Given the description of an element on the screen output the (x, y) to click on. 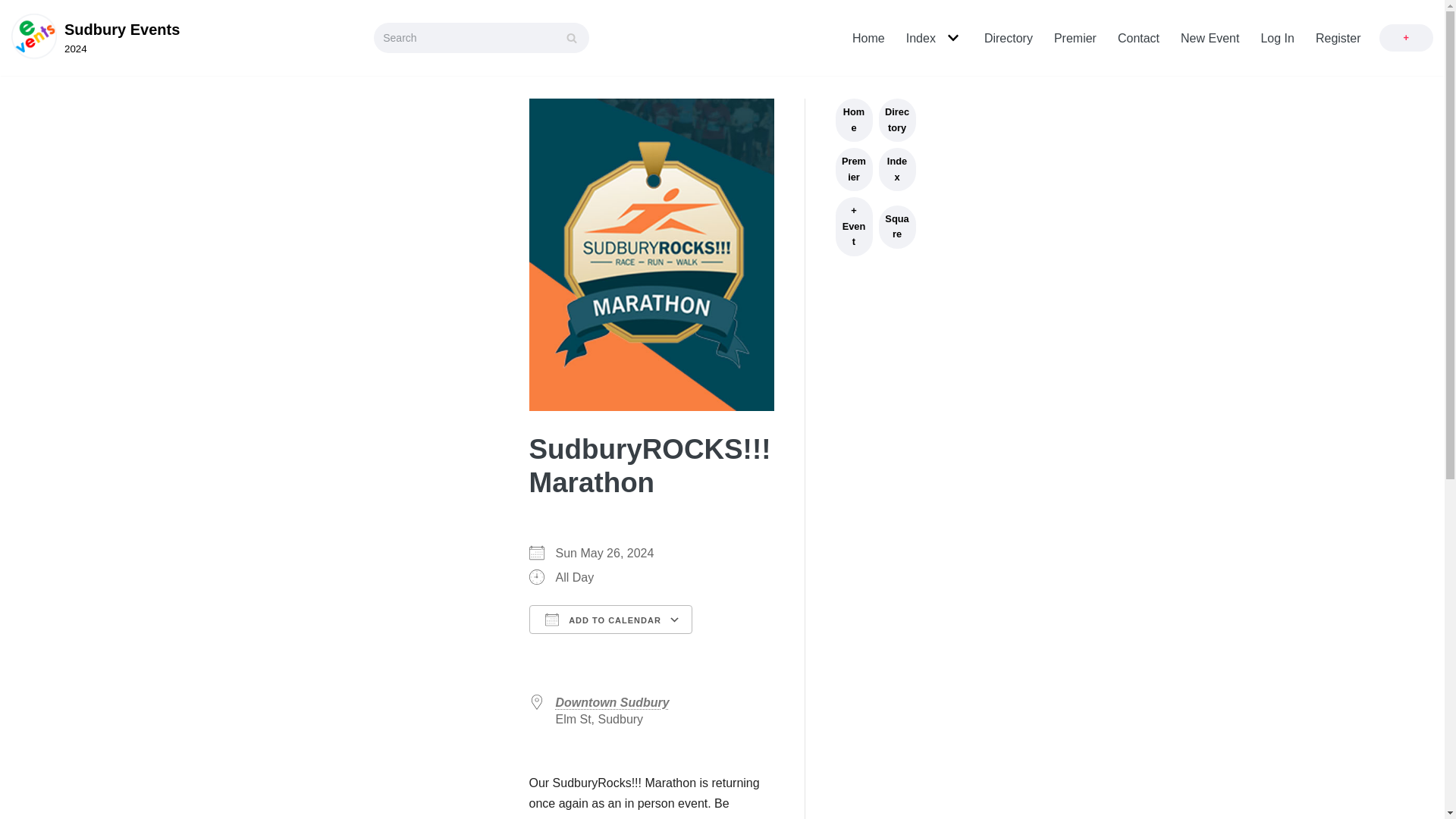
Premier (1075, 37)
Directory (1008, 37)
ADD TO CALENDAR (611, 619)
Skip to content (95, 37)
Home (15, 7)
Index (868, 37)
Download ICS (920, 37)
Sudbury Events (600, 648)
New Event (95, 37)
Register (1209, 37)
Contact (1338, 37)
Log In (1138, 37)
